Given the description of an element on the screen output the (x, y) to click on. 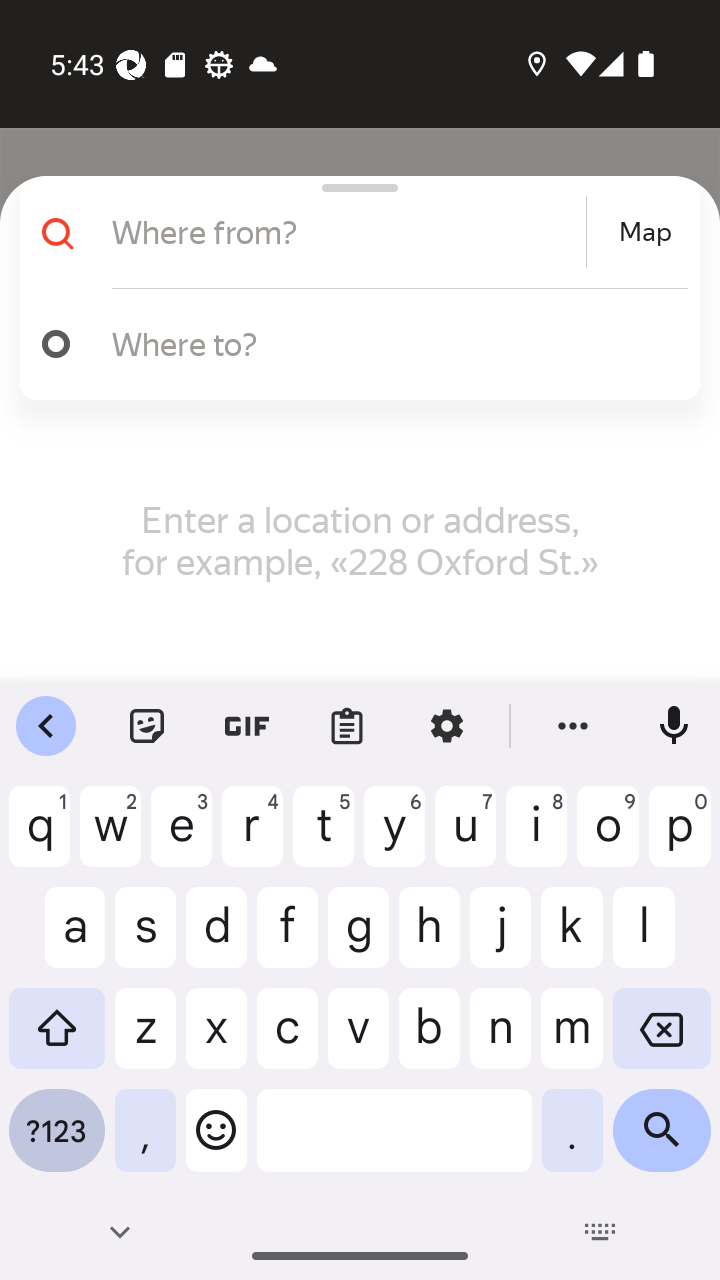
Where from? Map Map (352, 232)
Map (645, 232)
Where from? (346, 232)
Where to? (352, 343)
Where to? (390, 343)
